Given the description of an element on the screen output the (x, y) to click on. 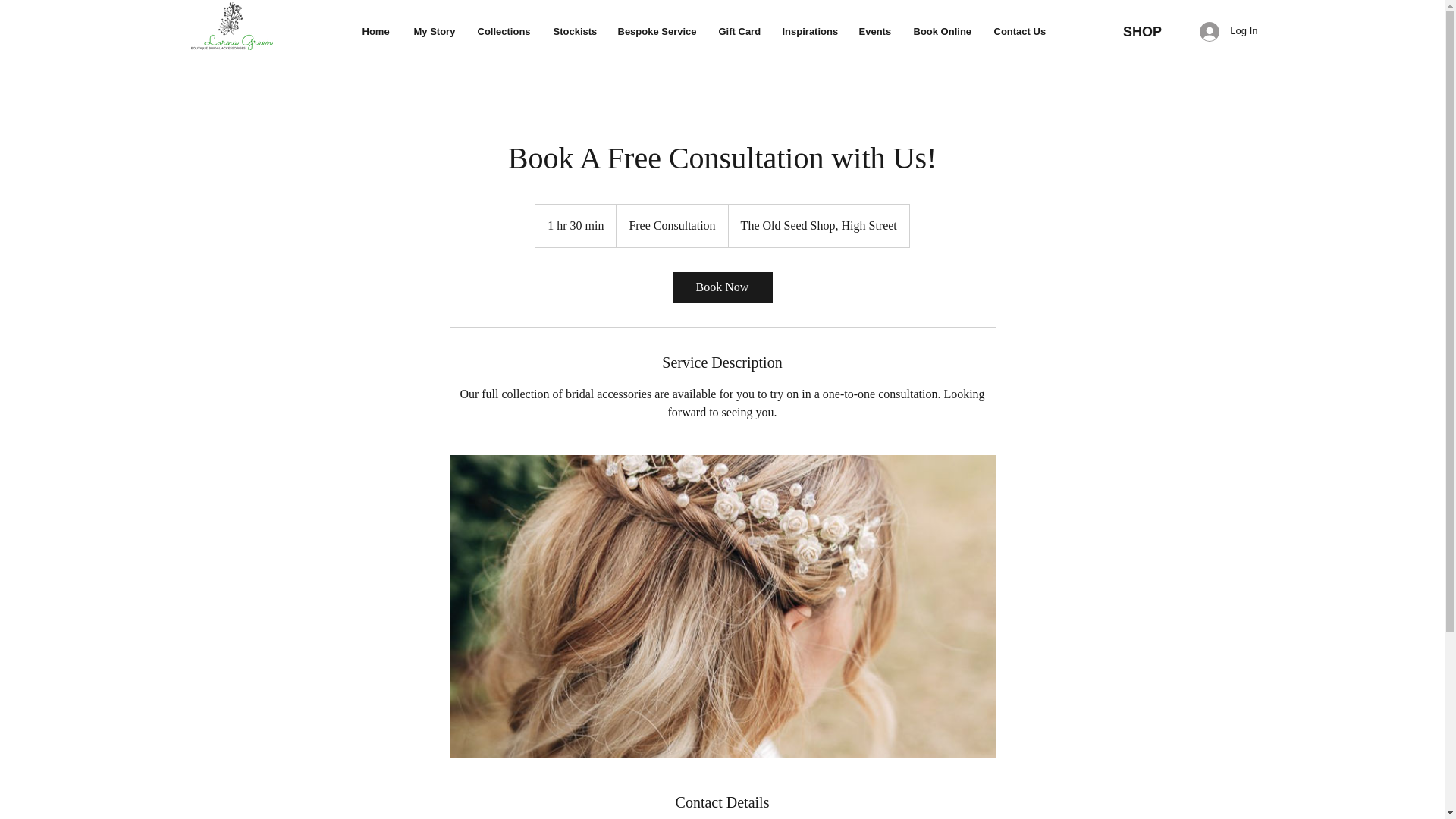
My Story (433, 31)
Book Now (721, 286)
Cart: (1148, 7)
Events (874, 31)
Inspirations (808, 31)
Book Online (942, 31)
SHOP (1142, 32)
Gift Card (738, 31)
Stockists (573, 31)
Home (375, 31)
